Given the description of an element on the screen output the (x, y) to click on. 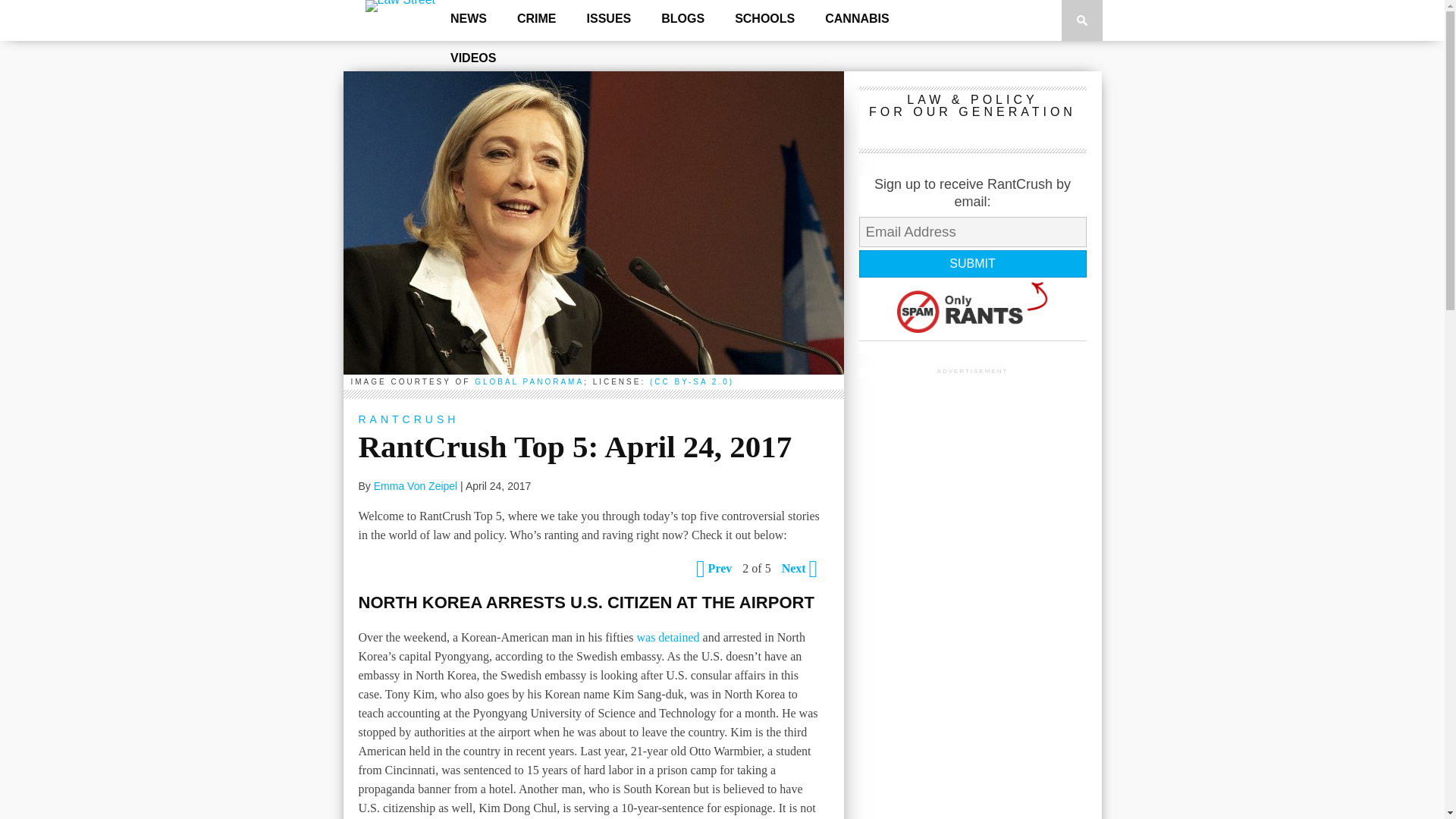
Crime (537, 19)
ISSUES (609, 19)
NEWS (468, 19)
CRIME (537, 19)
Submit (972, 263)
BLOGS (682, 19)
News (468, 19)
Issues (609, 19)
